Given the description of an element on the screen output the (x, y) to click on. 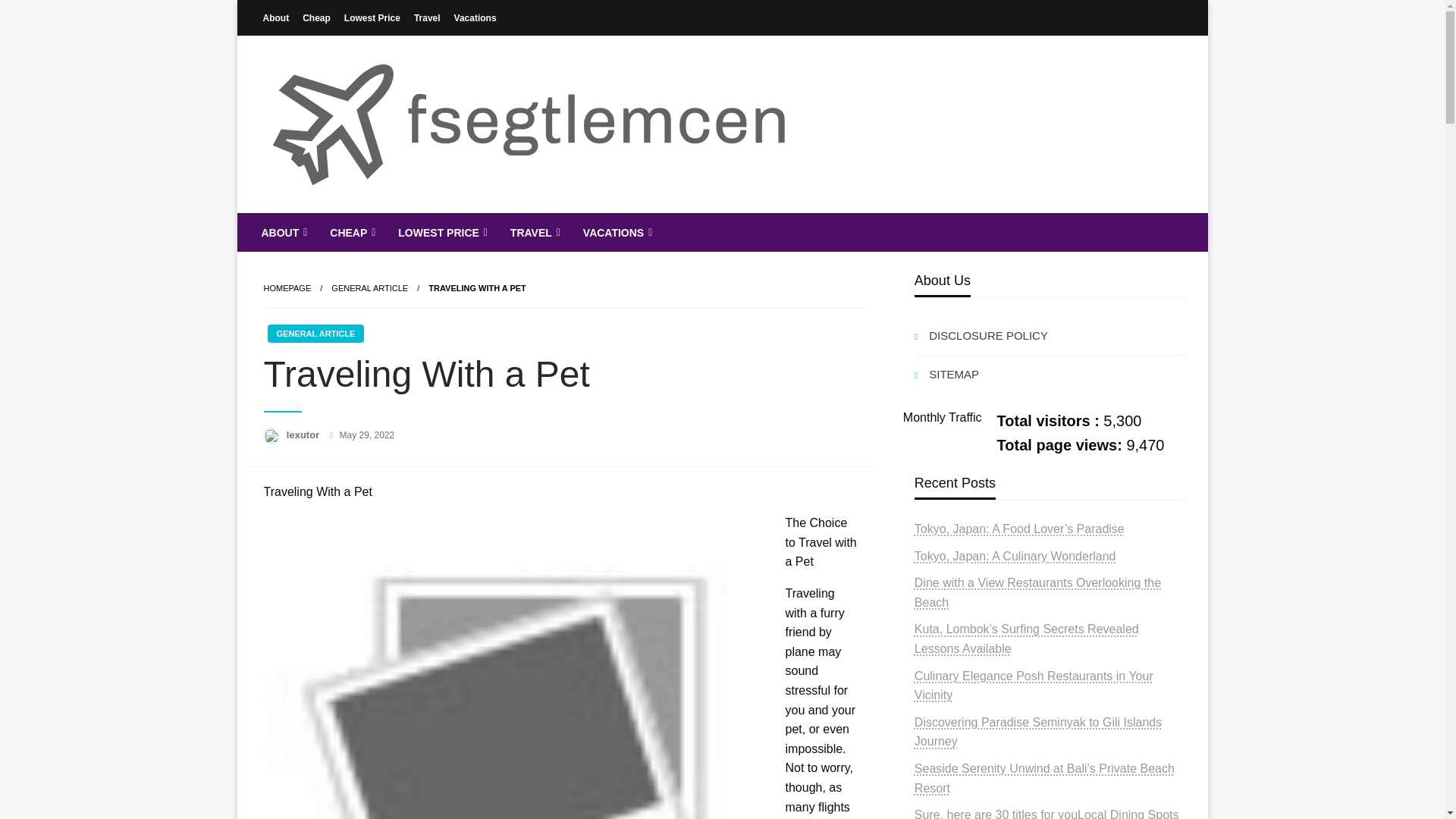
Travel (426, 17)
Homepage (287, 287)
General Article (369, 287)
lexutor (303, 434)
HOMEPAGE (287, 287)
Cheap (316, 17)
About (276, 17)
VACATIONS (616, 232)
Traveling With a Pet (476, 287)
TRAVEL (533, 232)
Fseg-Tlemcen (360, 224)
CHEAP (351, 232)
Lowest Price (372, 17)
ABOUT (282, 232)
